Given the description of an element on the screen output the (x, y) to click on. 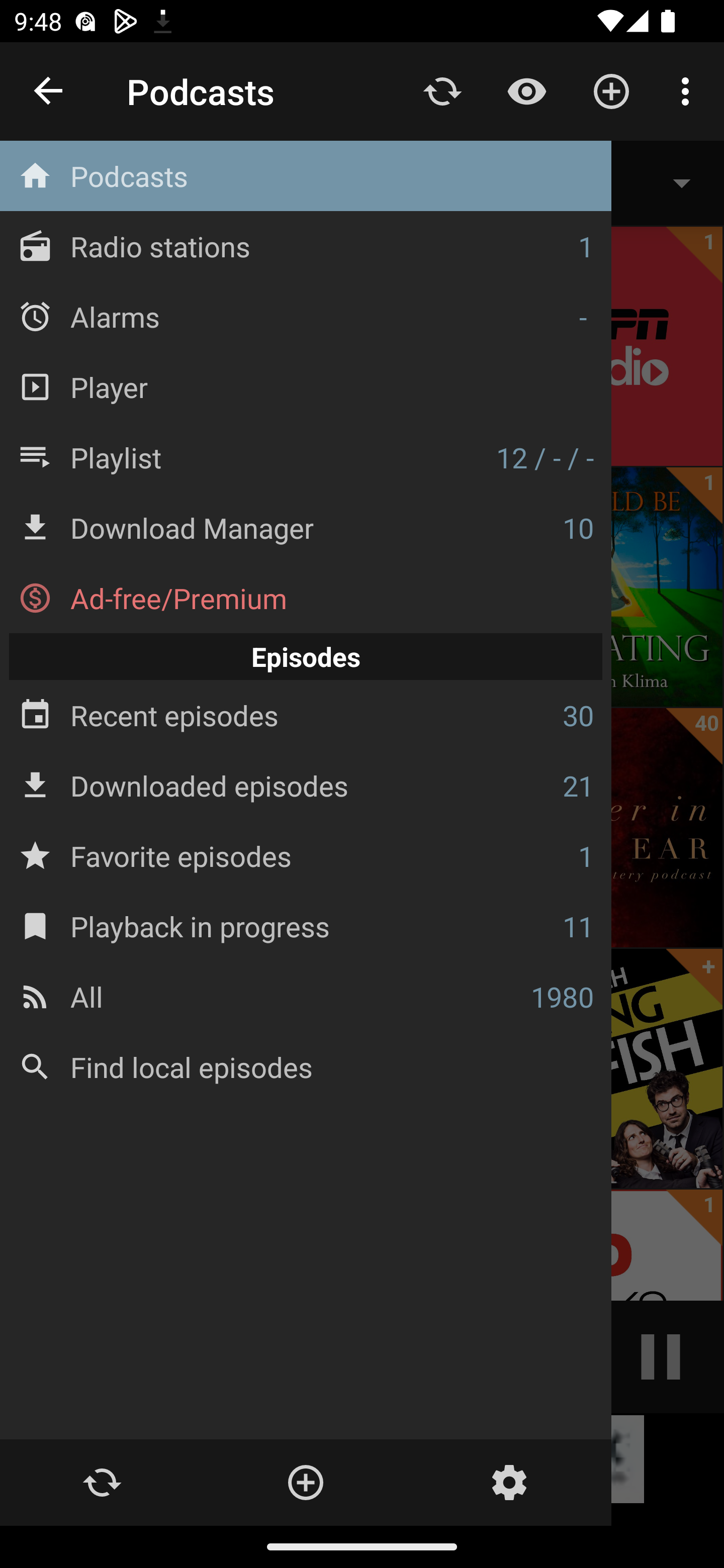
Close navigation sidebar (49, 91)
Update (442, 90)
Show / Hide played content (526, 90)
Add new Podcast (611, 90)
More options (688, 90)
Podcasts (305, 176)
Radio stations 1 (305, 245)
Alarms  -  (305, 315)
Player (305, 386)
Playlist 12 / - / - (305, 456)
Download Manager 10 (305, 527)
Ad-free/Premium (305, 597)
Recent episodes 30 (305, 715)
Downloaded episodes 21 (305, 785)
Favorite episodes 1 (305, 855)
Playback in progress 11 (305, 925)
All 1980 (305, 996)
Find local episodes (305, 1066)
Update (101, 1482)
Add new Podcast (304, 1482)
Settings (508, 1482)
